Given the description of an element on the screen output the (x, y) to click on. 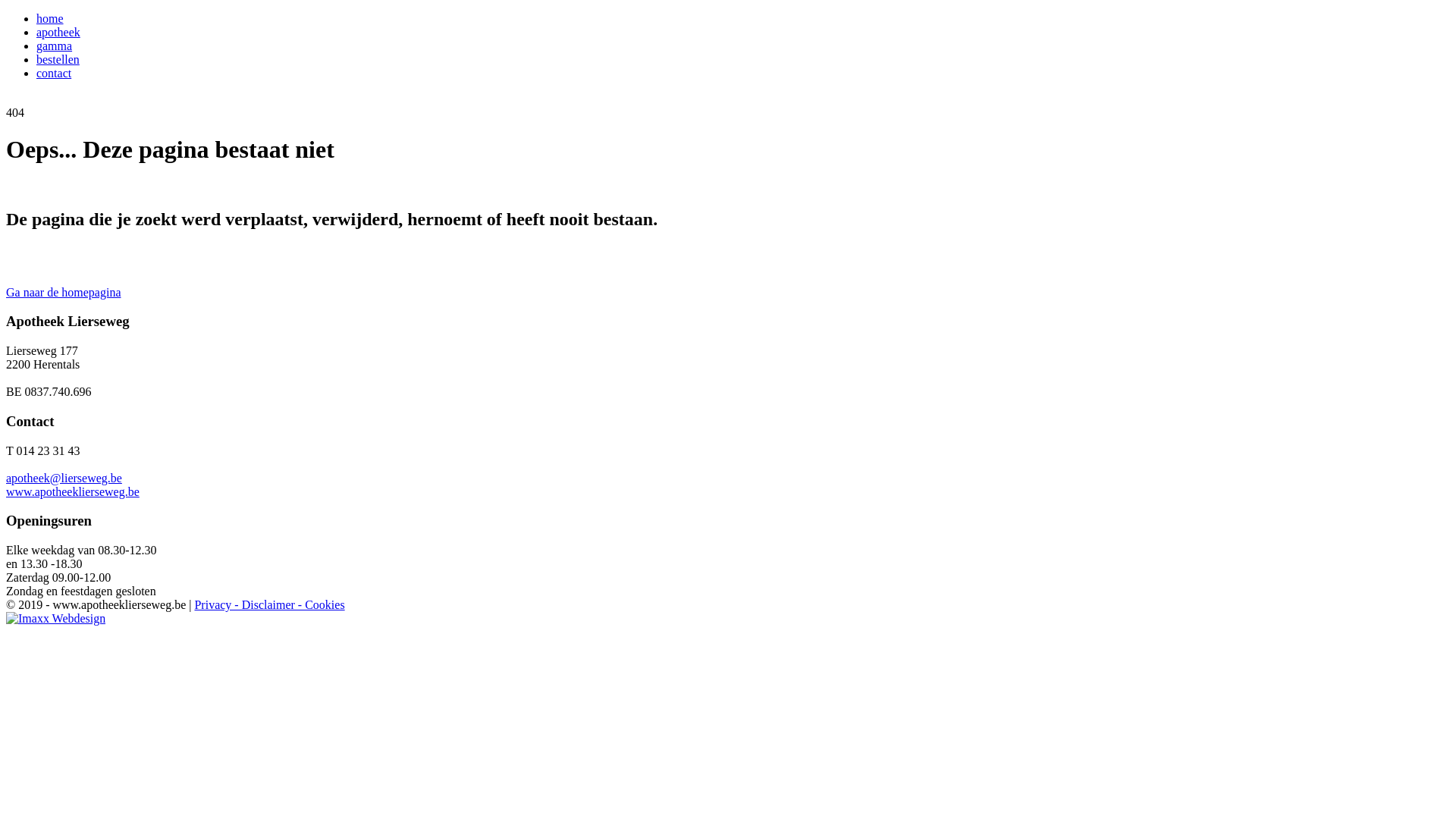
gamma Element type: text (54, 45)
Ga naar de homepagina Element type: text (63, 291)
contact Element type: text (53, 72)
apotheek Element type: text (58, 31)
apotheek@lierseweg.be Element type: text (64, 477)
Privacy - Disclaimer - Cookies Element type: text (269, 604)
Imaxx Webdesign Element type: hover (55, 617)
home Element type: text (49, 18)
www.apotheeklierseweg.be Element type: text (72, 491)
bestellen Element type: text (57, 59)
